Given the description of an element on the screen output the (x, y) to click on. 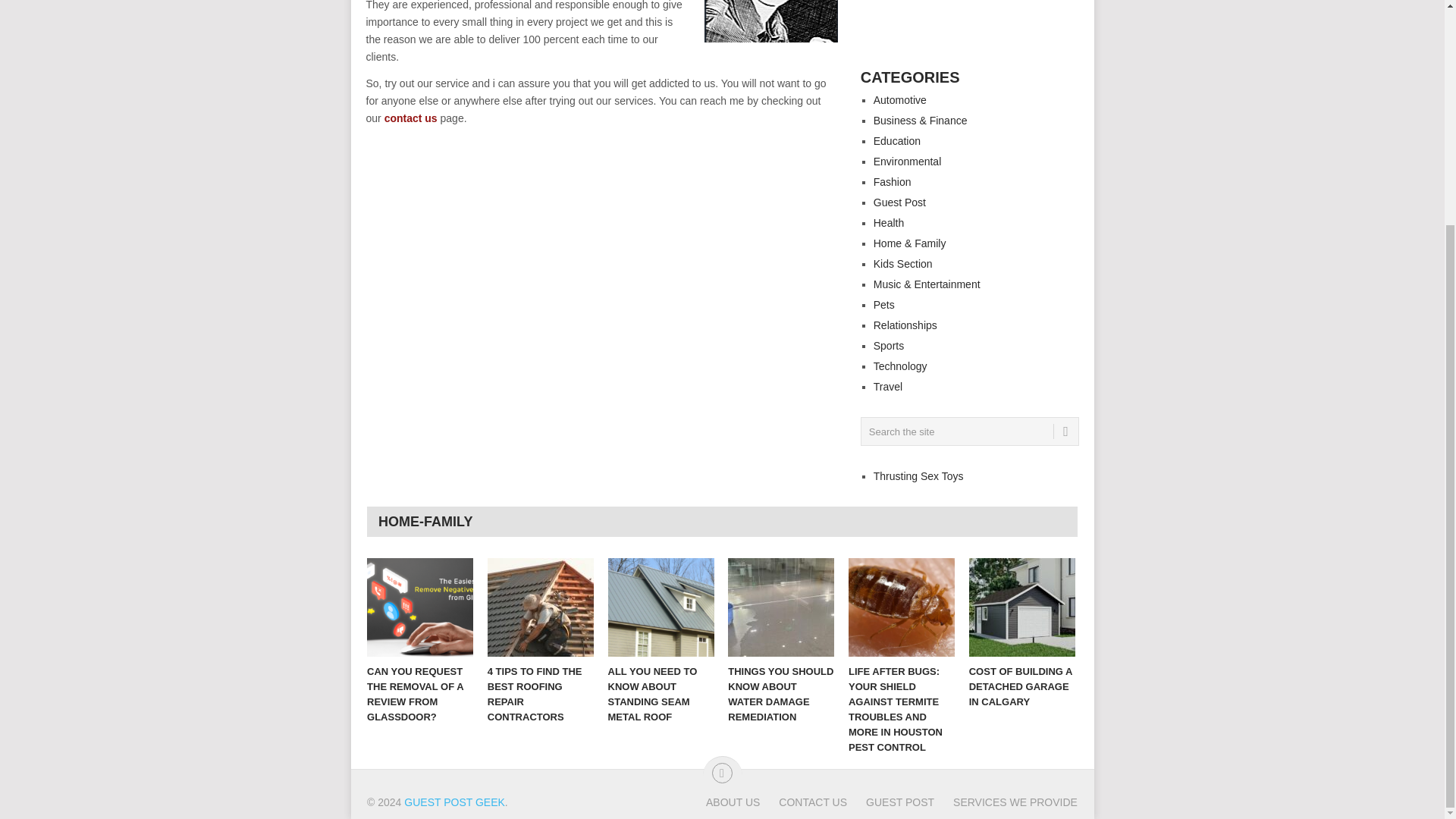
Guest Post (899, 202)
Education (896, 141)
Technology (900, 366)
Search the site (969, 430)
Relationships (905, 325)
Health (888, 223)
Automotive (899, 100)
4 Tips to Find the Best Roofing Repair Contractors (540, 606)
Thrusting Sex Toys (918, 476)
Fashion (892, 182)
ABOUT US (733, 802)
Things you should know about water damage remediation (781, 606)
Environmental (907, 161)
Can You Request the Removal of a Review from Glassdoor? (419, 606)
